Given the description of an element on the screen output the (x, y) to click on. 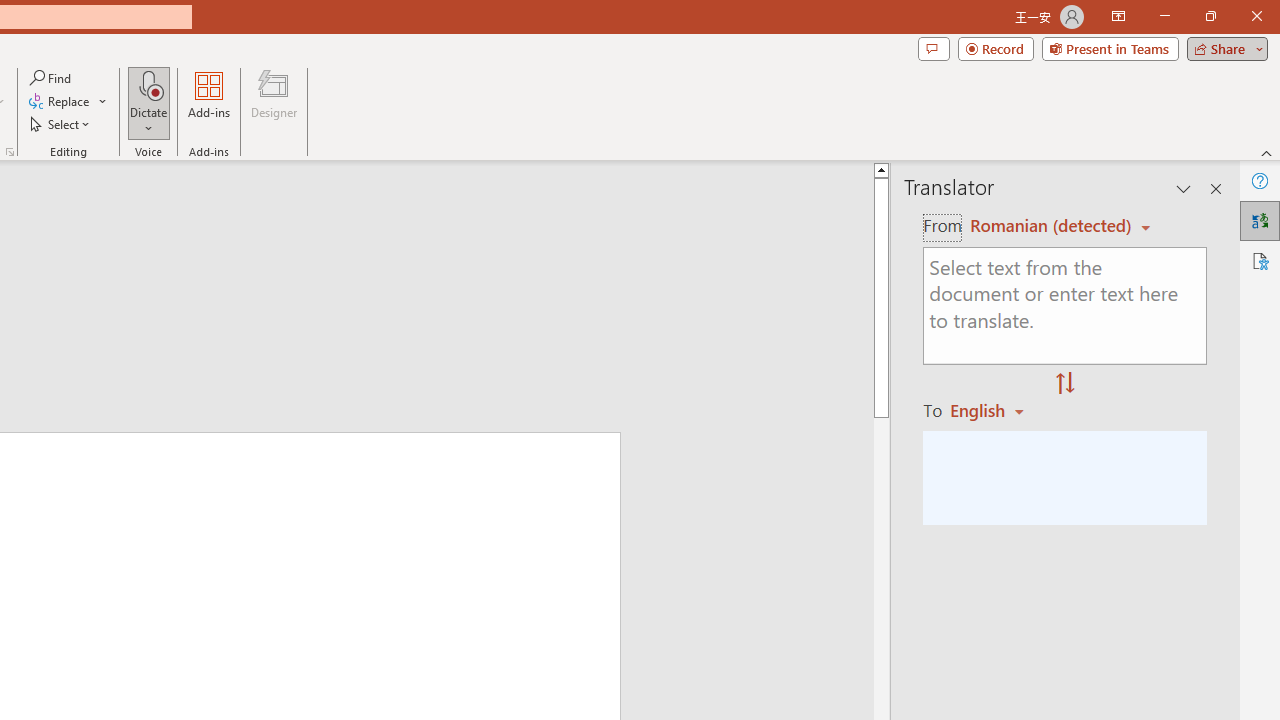
New Text Document (2) (931, 438)
